Given the description of an element on the screen output the (x, y) to click on. 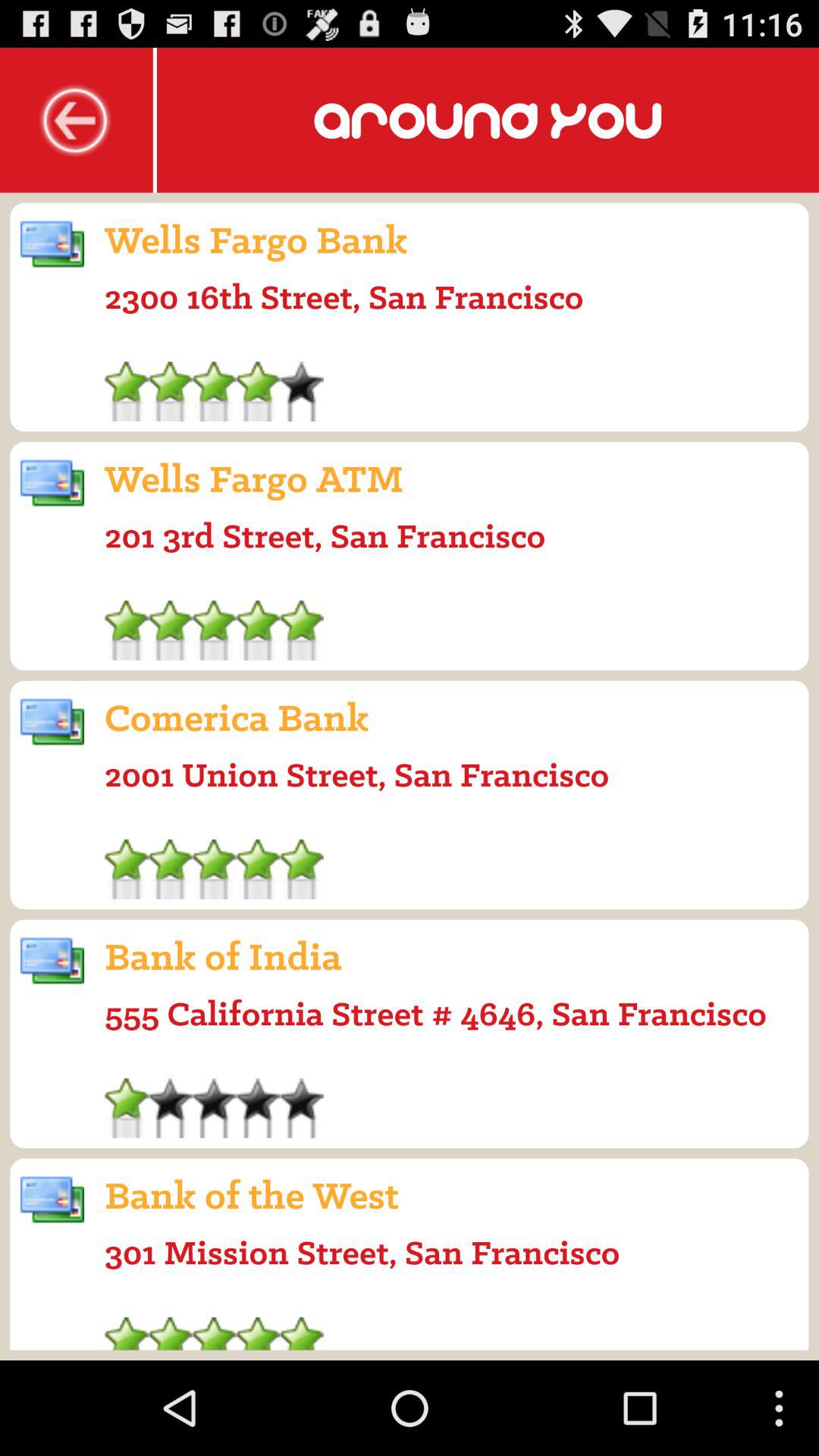
open 201 3rd street icon (324, 535)
